Given the description of an element on the screen output the (x, y) to click on. 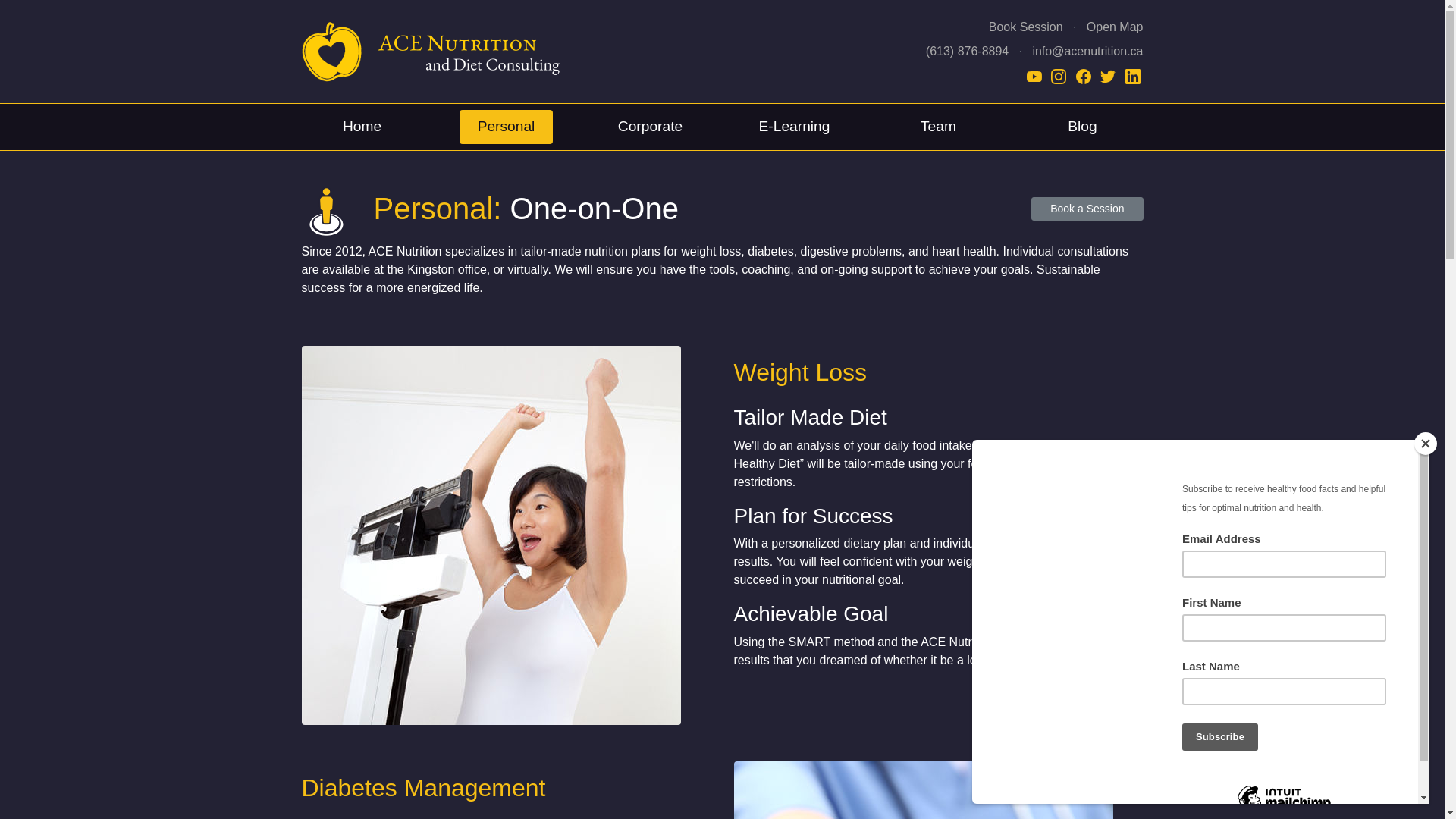
Team Element type: text (938, 126)
Instagram Element type: text (1060, 75)
Corporate Element type: text (649, 126)
YouTube Element type: text (1035, 75)
Personal Element type: text (506, 126)
Facebook Element type: text (1085, 75)
info@acenutrition.ca Element type: text (1087, 50)
Home Element type: text (361, 126)
Twitter Element type: text (1109, 75)
Blog Element type: text (1081, 126)
Book a Session Element type: text (1086, 208)
LinkedIn Element type: text (1132, 75)
Book Session Element type: text (1025, 26)
Open Map Element type: text (1114, 26)
(613) 876-8894 Element type: text (966, 50)
E-Learning Element type: text (794, 126)
